Given the description of an element on the screen output the (x, y) to click on. 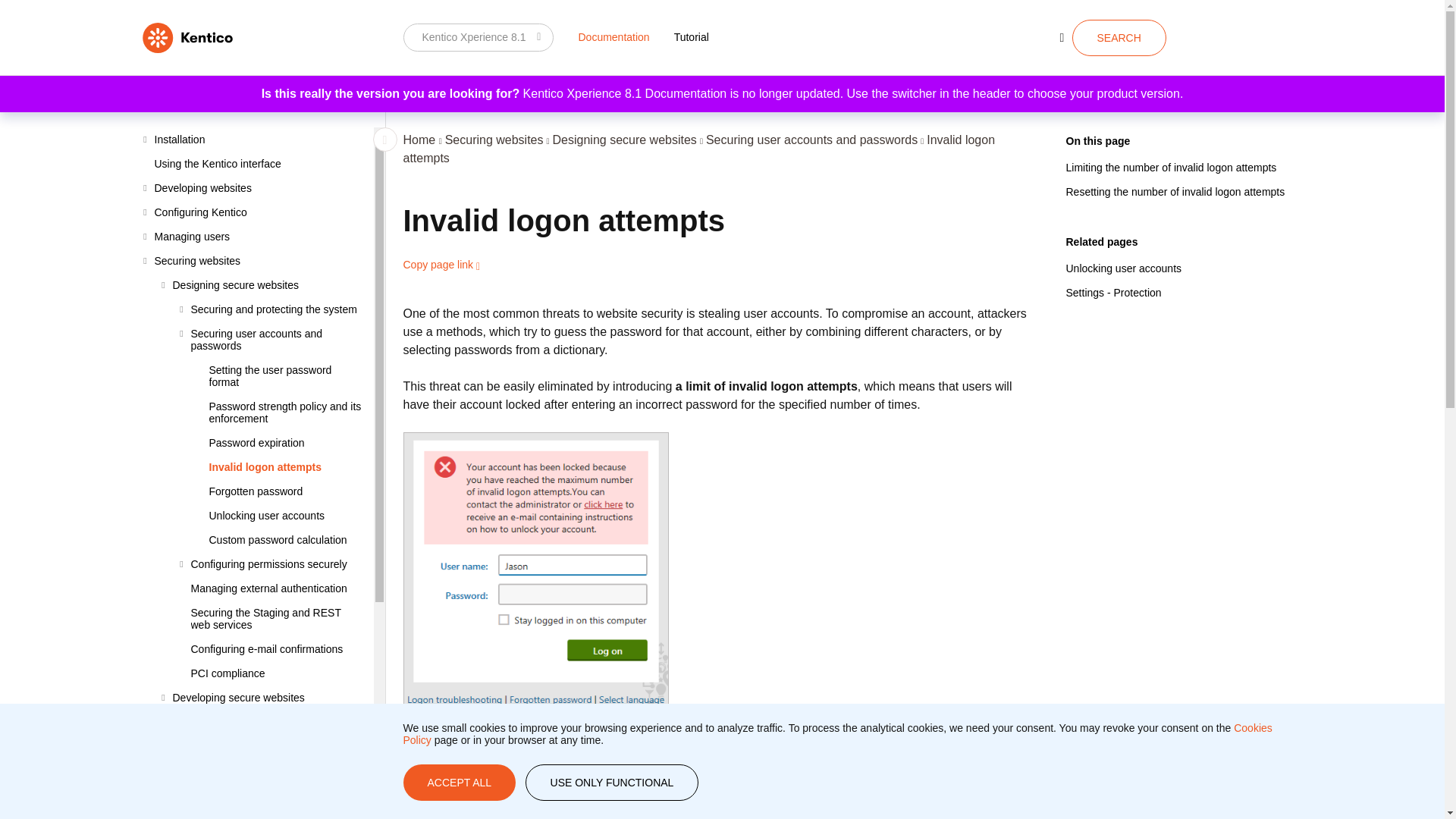
Which Kentico Xperience version do you have? (478, 36)
Tutorial (691, 37)
Installation (257, 139)
SEARCH (1118, 37)
Tutorial (691, 37)
Kentico Xperience 8.1 (478, 36)
Documentation (613, 37)
Documentation (613, 37)
